Given the description of an element on the screen output the (x, y) to click on. 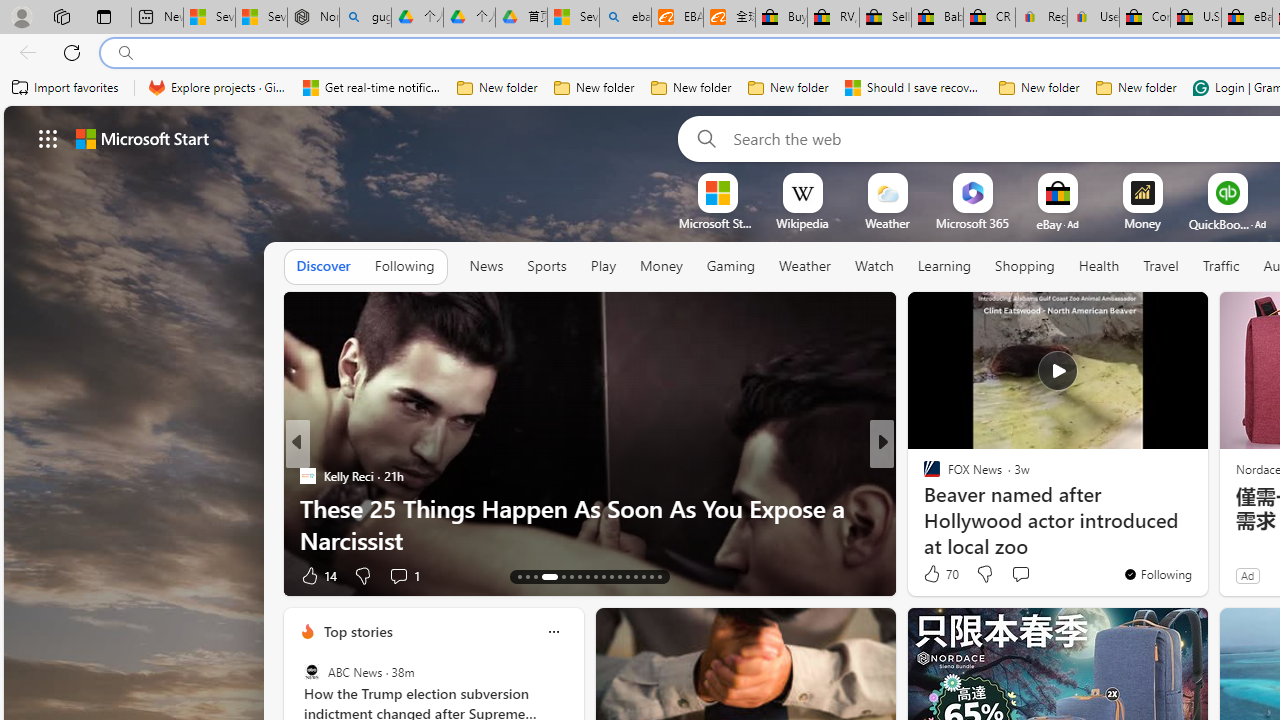
AutomationID: tab-14 (527, 576)
AutomationID: tab-32 (635, 576)
Search icon (125, 53)
81 Like (934, 574)
Microsoft start (142, 138)
35 Like (934, 574)
Animals Around The Globe (US) (923, 507)
Should I save recovered Word documents? - Microsoft Support (913, 88)
